Given the description of an element on the screen output the (x, y) to click on. 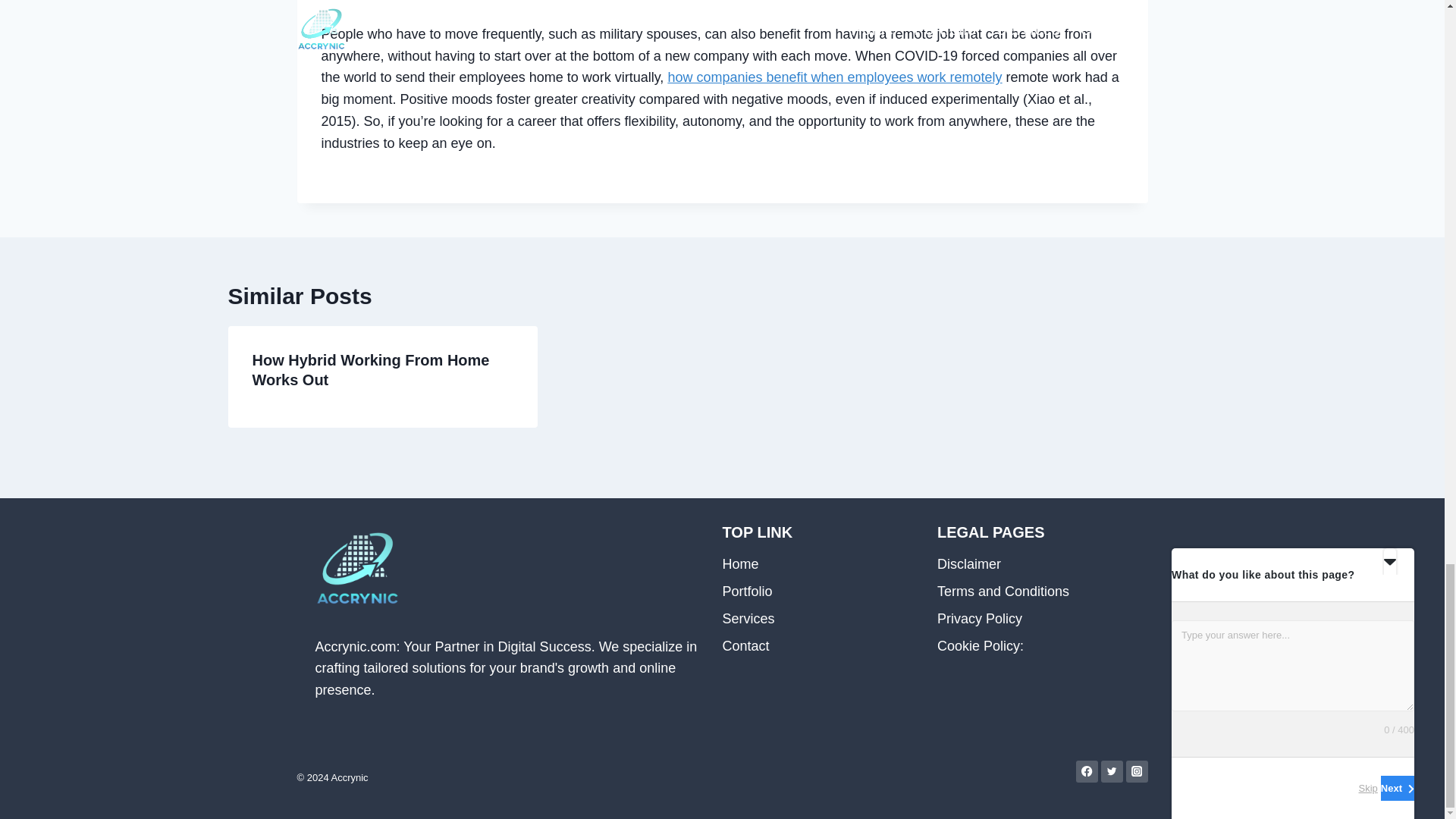
Disclaimer (1033, 564)
Terms and Conditions (1033, 592)
Home (818, 564)
Cookie Policy: (1033, 646)
Privacy Policy (1033, 618)
Contact (818, 646)
how companies benefit when employees work remotely (833, 77)
How Hybrid Working From Home Works Out (370, 370)
Services (818, 618)
Portfolio (818, 592)
